Given the description of an element on the screen output the (x, y) to click on. 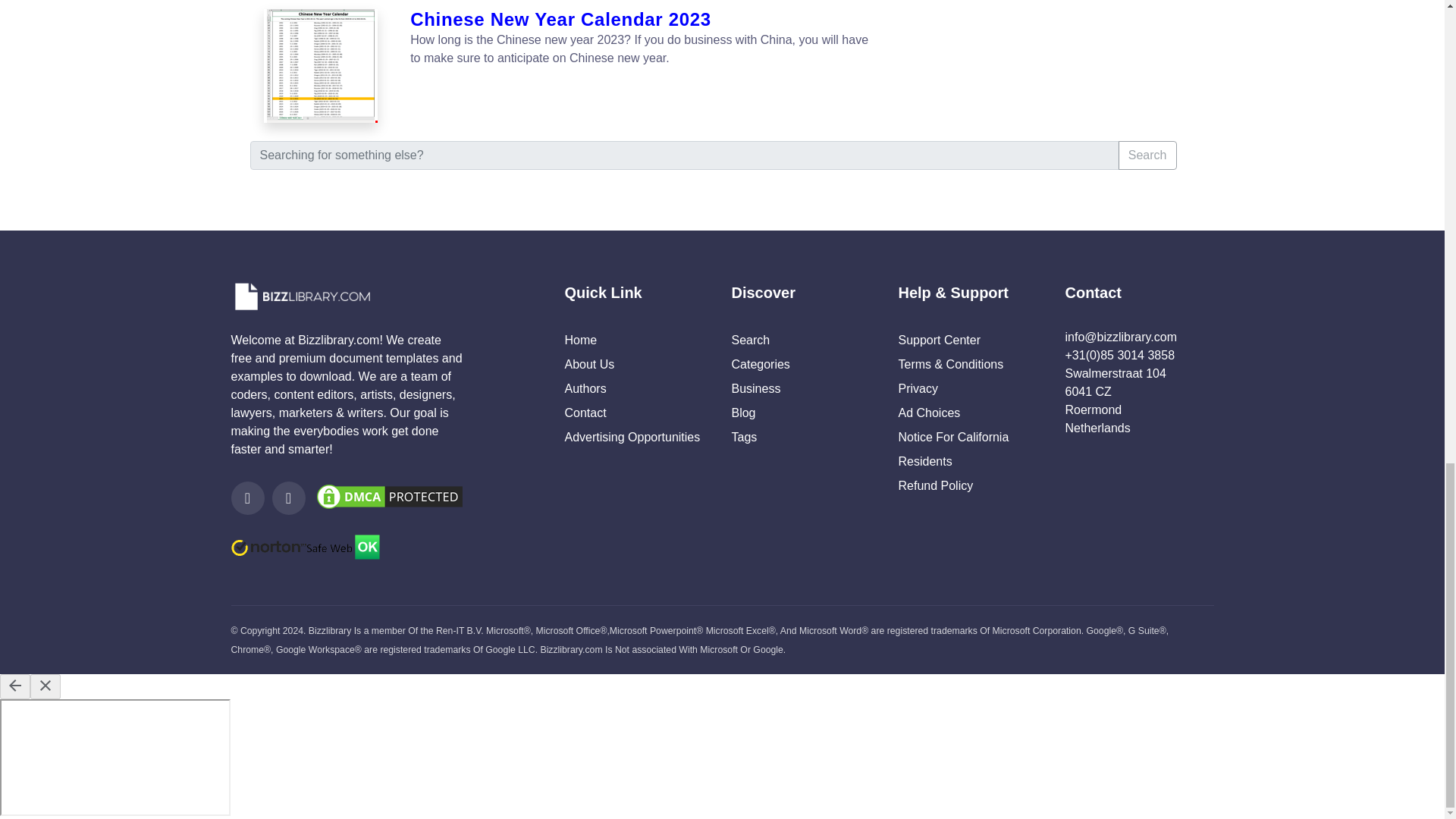
Privacy (917, 388)
Authors (584, 388)
Blog (742, 412)
Home (580, 339)
Notice For California Residents (953, 448)
Business (755, 388)
Categories (759, 364)
Ad Choices (928, 412)
Search (750, 339)
Refund Policy (935, 485)
Advertising Opportunities (632, 436)
Tags (743, 436)
Contact (584, 412)
Chinese New Year Calendar 2023 (641, 20)
Chinese New Year Calendar 2023 (321, 65)
